Given the description of an element on the screen output the (x, y) to click on. 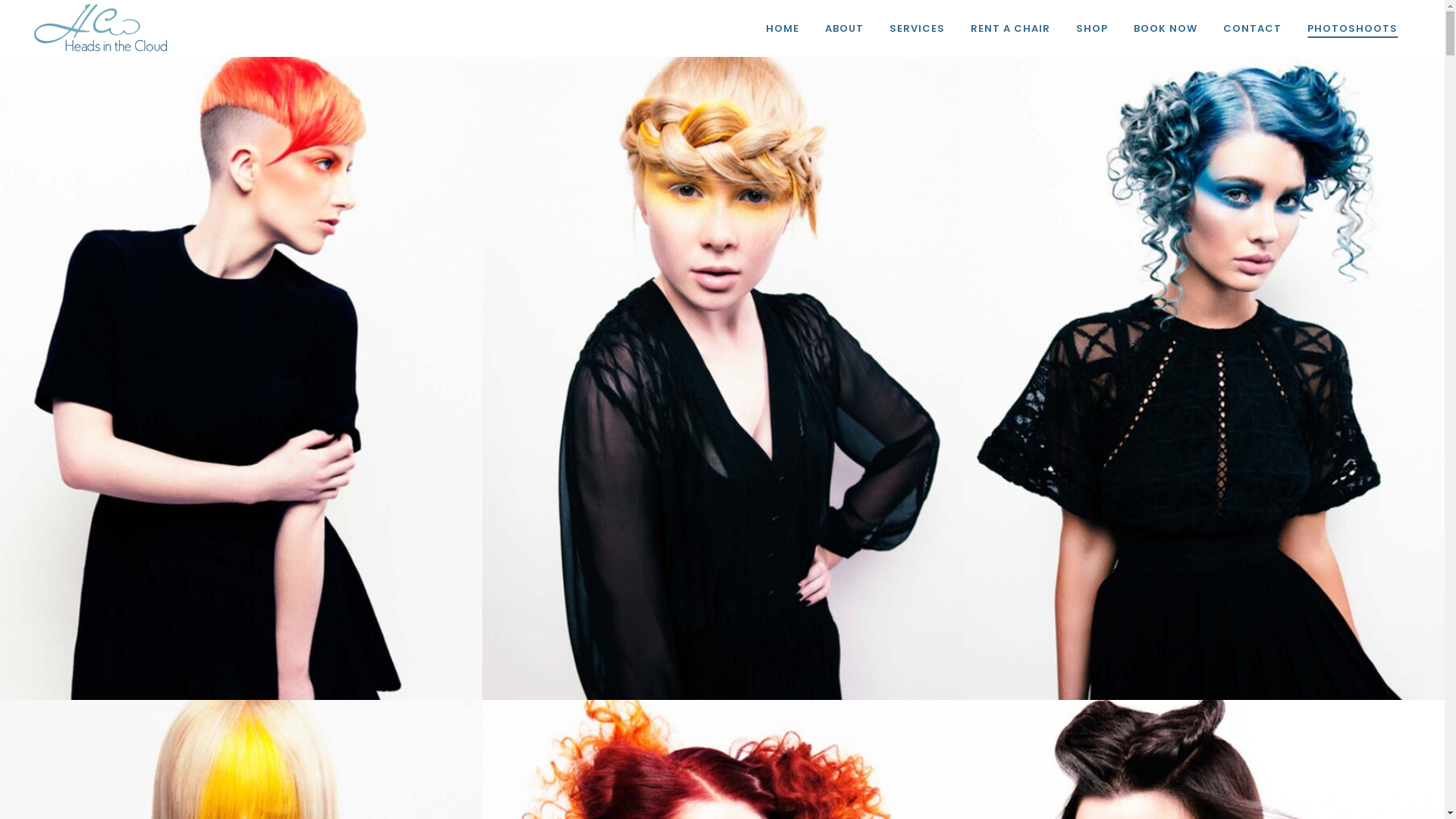
SERVICES Element type: text (916, 28)
HOME Element type: text (782, 28)
RENT A CHAIR Element type: text (1010, 28)
BOOK NOW Element type: text (1165, 28)
CONTACT Element type: text (1252, 28)
ABOUT Element type: text (844, 28)
PHOTOSHOOTS Element type: text (1352, 28)
SHOP Element type: text (1091, 28)
